Given the description of an element on the screen output the (x, y) to click on. 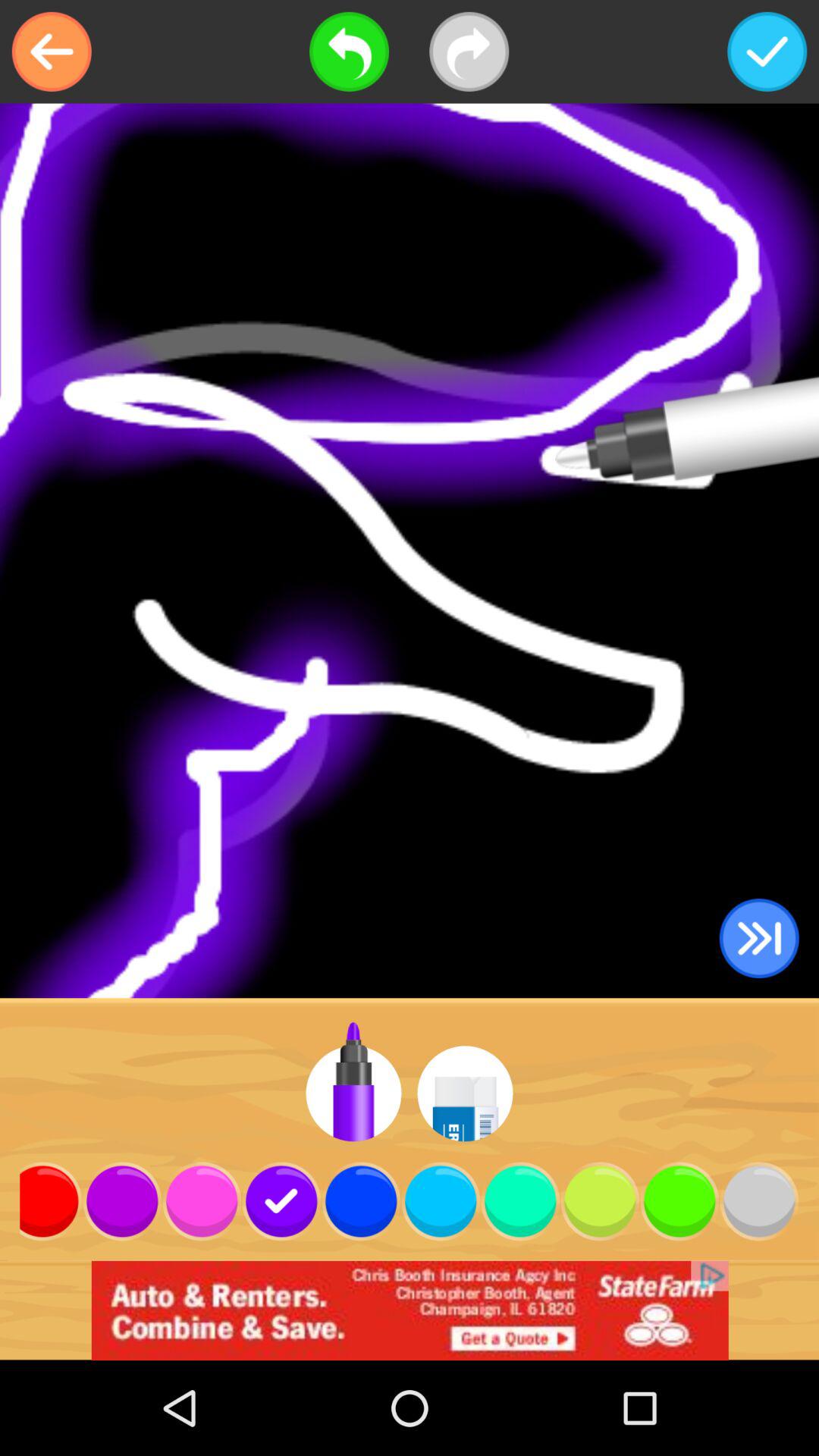
view advertisement details (409, 1310)
